Given the description of an element on the screen output the (x, y) to click on. 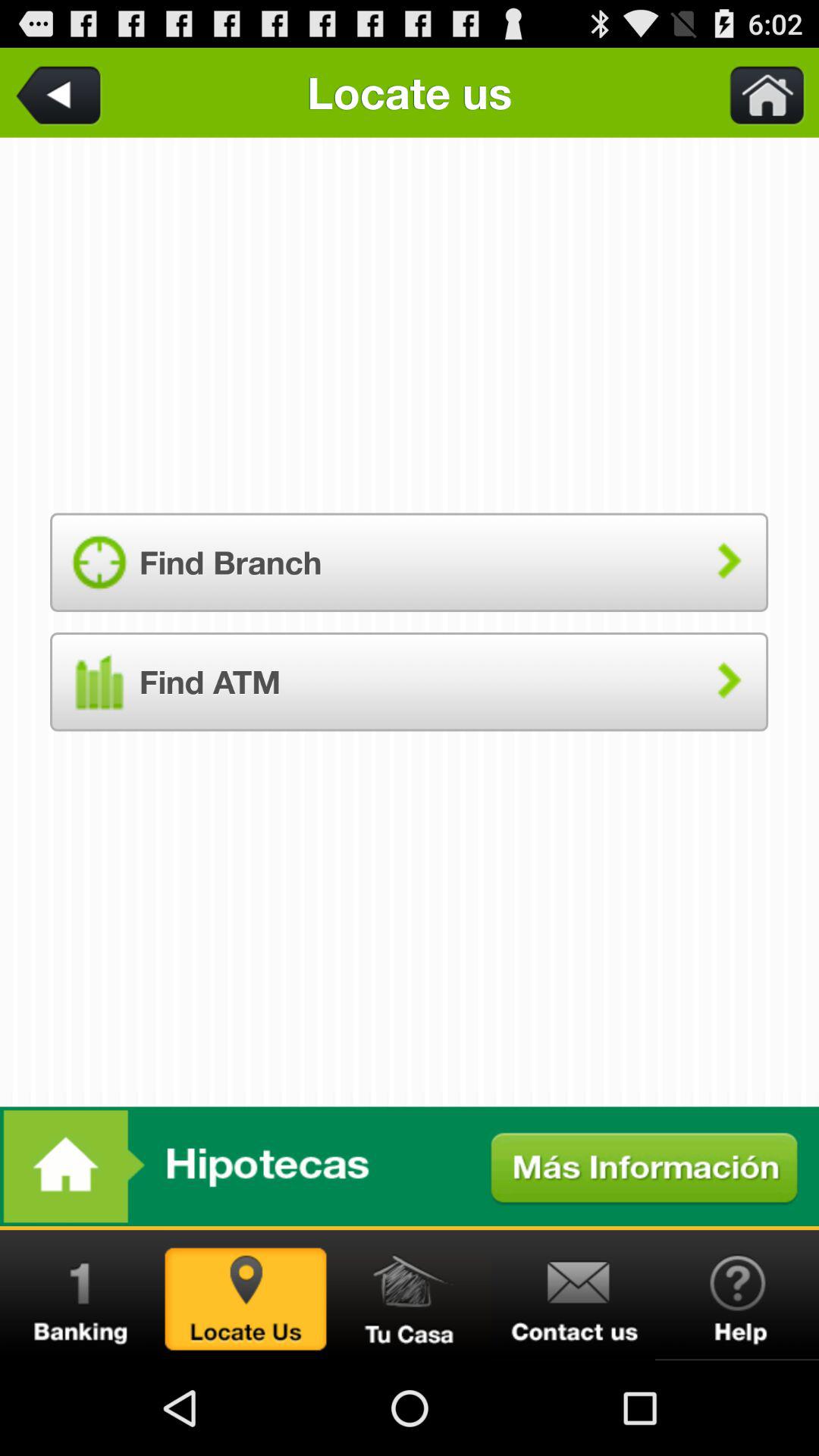
home (409, 1295)
